Given the description of an element on the screen output the (x, y) to click on. 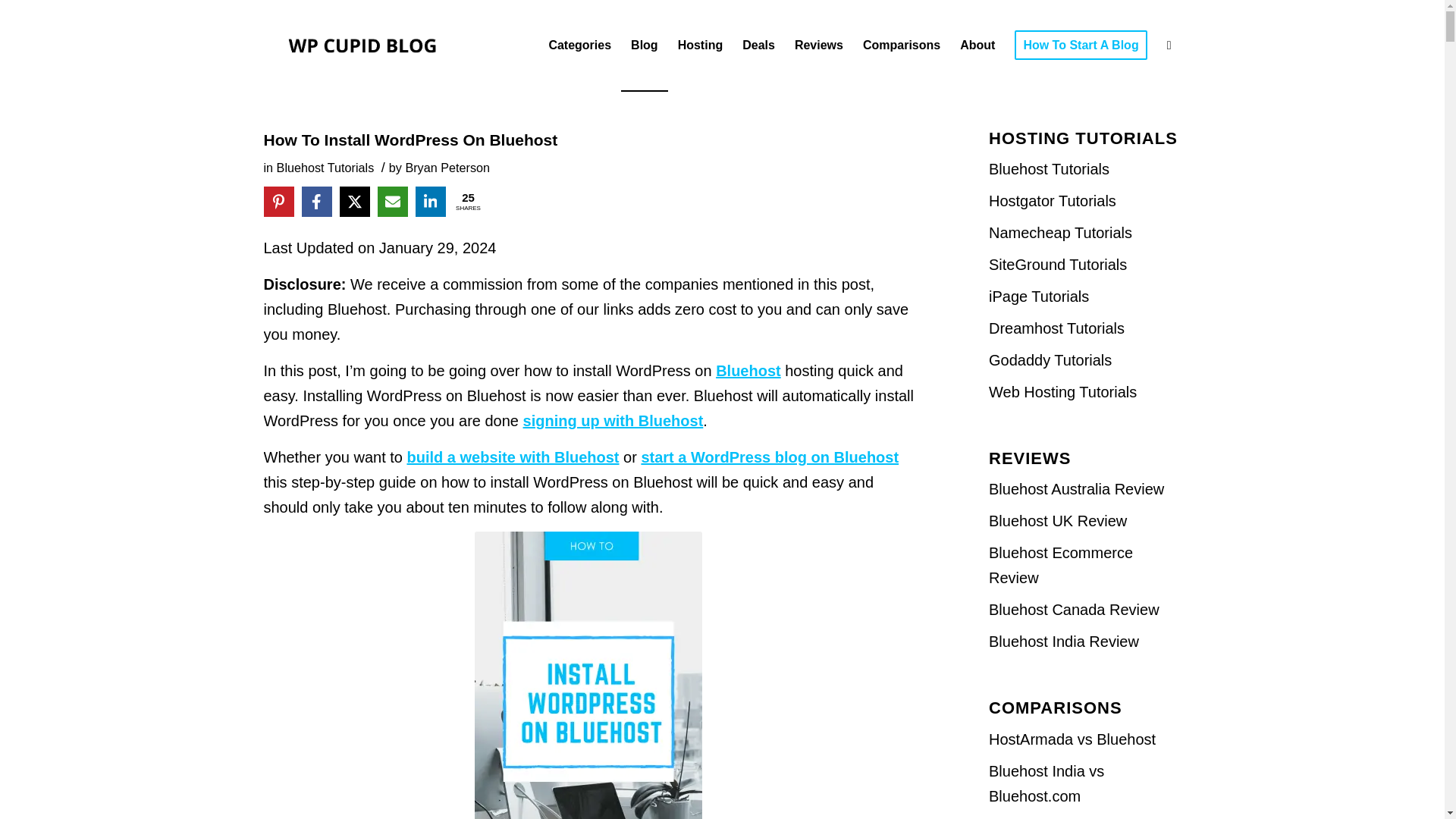
Deals (758, 45)
Permanent Link: How To Install WordPress On Bluehost (410, 139)
Posts by Bryan Peterson (446, 167)
Blog (644, 45)
how-to-install-wordpress-on-bluehost (587, 675)
Categories (579, 45)
Hosting (700, 45)
